Given the description of an element on the screen output the (x, y) to click on. 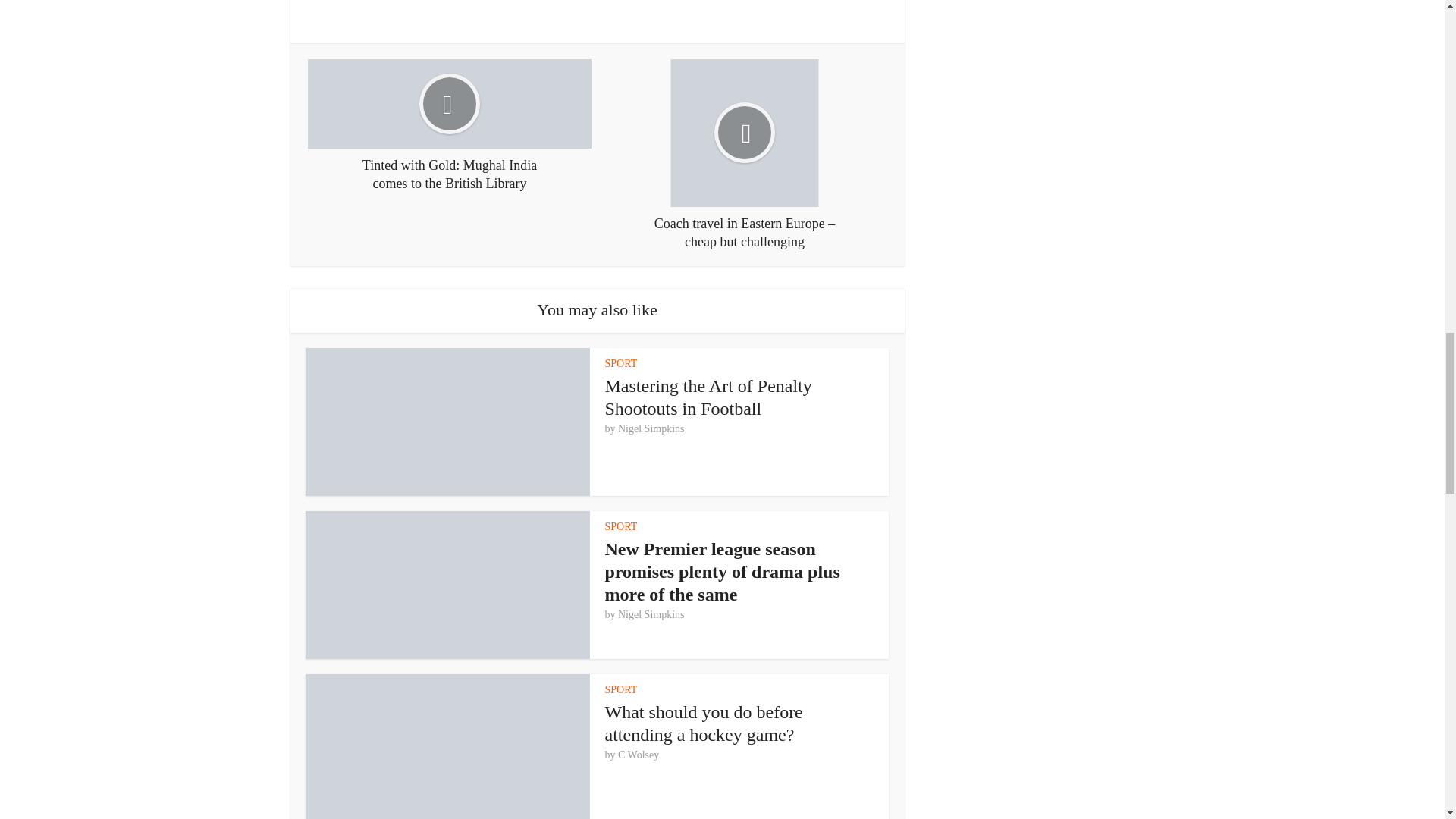
C Wolsey (638, 755)
What should you do before attending a hockey game? (704, 722)
Mastering the Art of Penalty Shootouts in Football (708, 396)
SPORT (621, 363)
Mastering the Art of Penalty Shootouts in Football (708, 396)
SPORT (621, 526)
Nigel Simpkins (650, 614)
Advertisement (597, 10)
Nigel Simpkins (650, 428)
SPORT (621, 689)
What should you do before attending a hockey game? (704, 722)
Tinted with Gold: Mughal India comes to the British Library (449, 125)
